Given the description of an element on the screen output the (x, y) to click on. 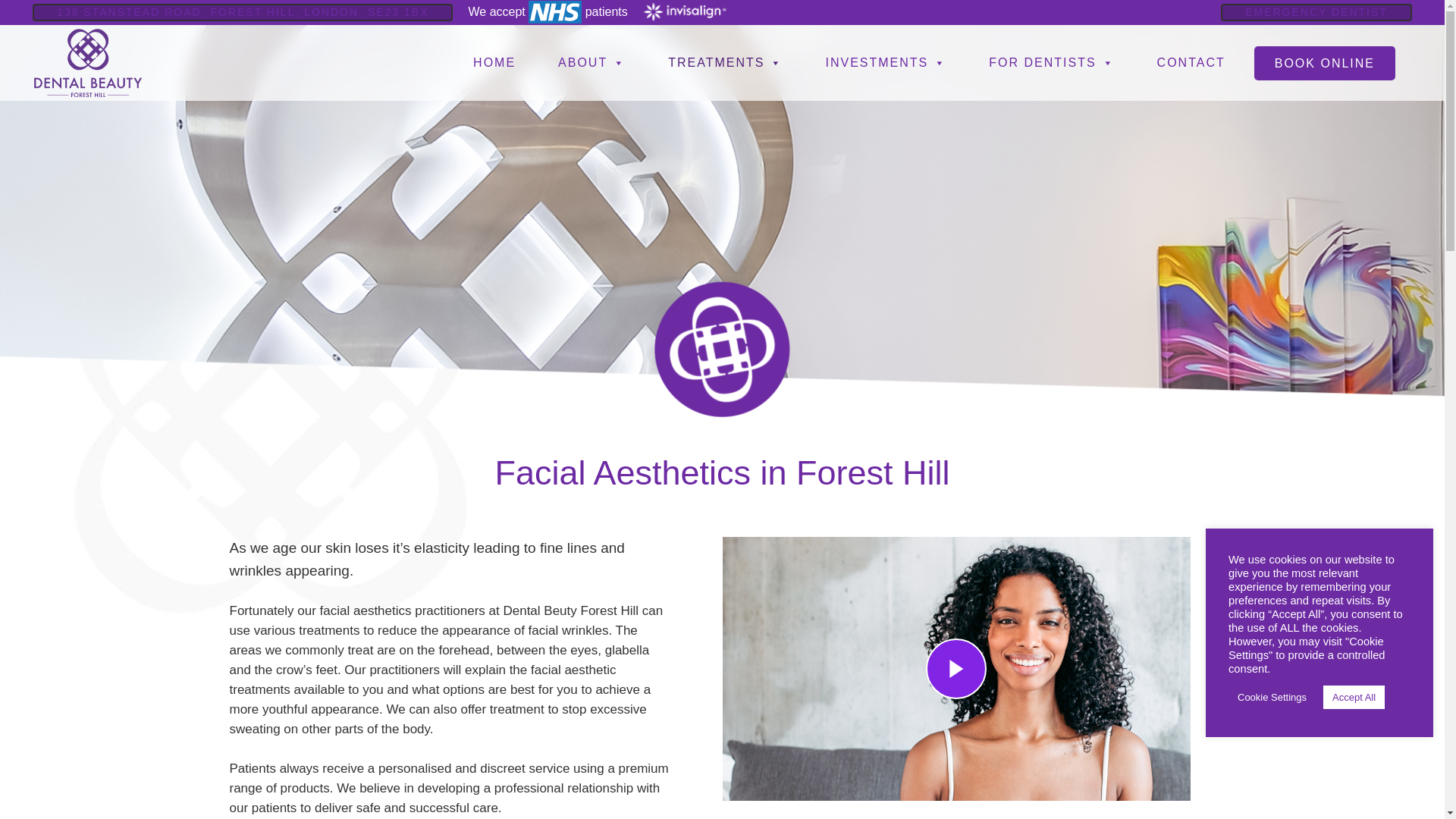
ABOUT (591, 62)
FOR DENTISTS (1050, 62)
HOME (494, 62)
INVESTMENTS (884, 62)
138 STANSTEAD ROAD, FOREST HILL, LONDON, SE23 1BX (242, 12)
TREATMENTS (724, 62)
EMERGENCY DENTIST (1316, 12)
